Given the description of an element on the screen output the (x, y) to click on. 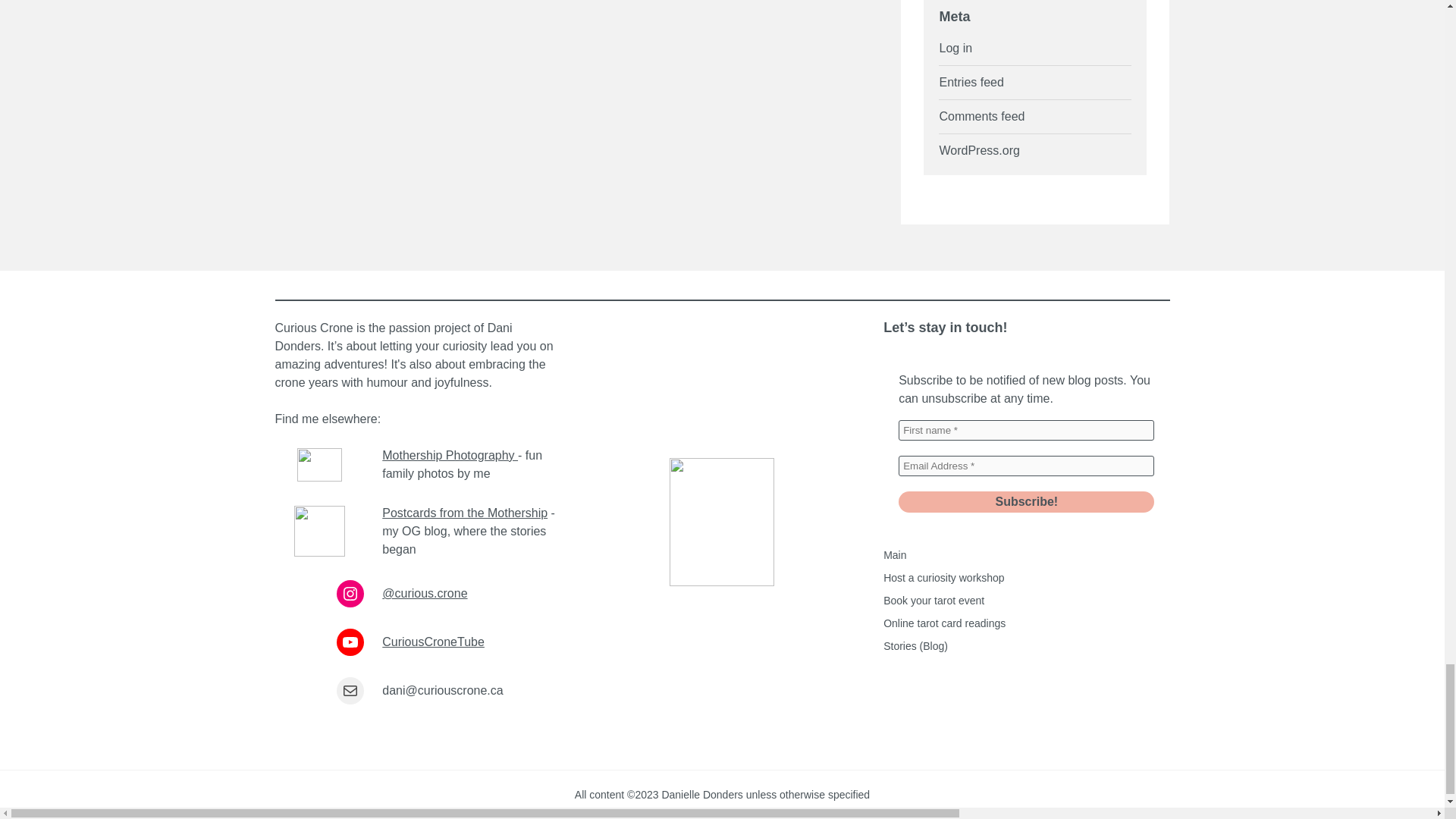
First name (1026, 430)
Email Address (1026, 465)
Subscribe! (1026, 501)
